Given the description of an element on the screen output the (x, y) to click on. 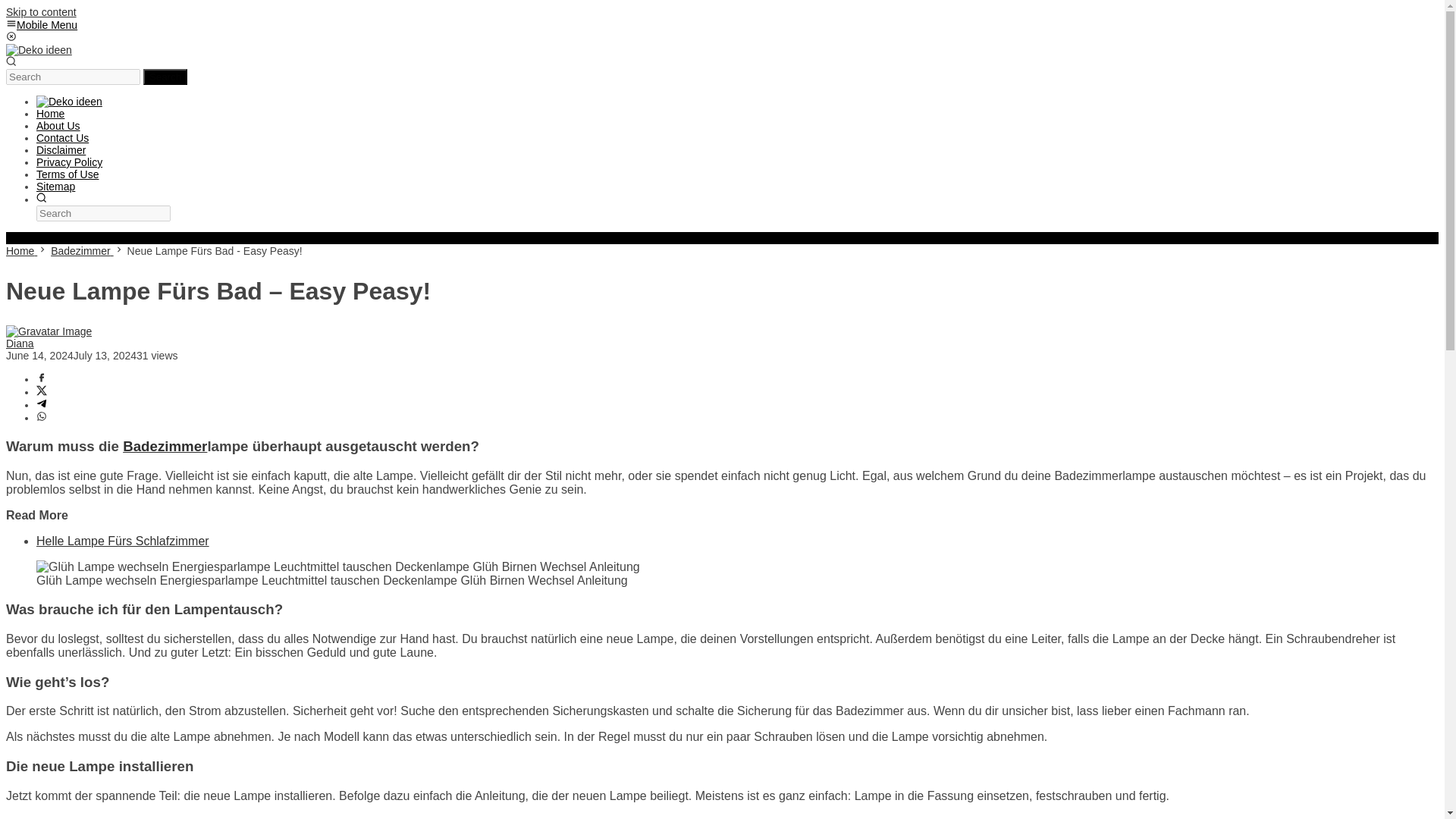
Mobile Menu (41, 24)
Telegram Share (41, 404)
WhatsApp this (41, 417)
Badezimmer (164, 446)
Share this (41, 378)
About Us (58, 125)
Deko ideen (68, 101)
Deko ideen (38, 50)
Tweet this (41, 391)
Permalink to: Diana (48, 331)
Badezimmer (81, 250)
Search (164, 76)
Privacy Policy (68, 162)
Contact Us (62, 137)
Mobile Menu (41, 24)
